Given the description of an element on the screen output the (x, y) to click on. 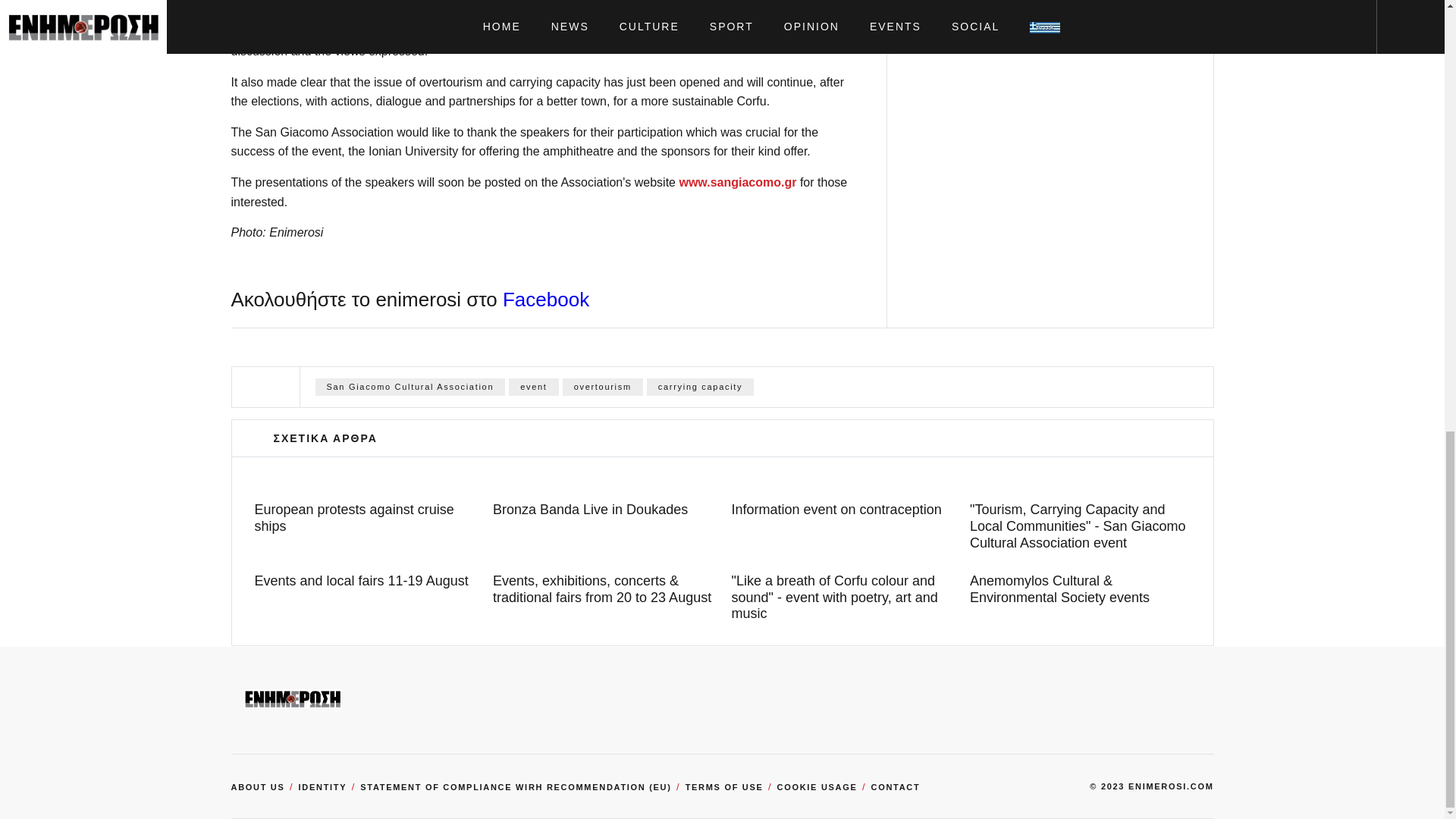
European protests against cruise ships (365, 518)
Facebook (545, 299)
Information event on contraception (841, 510)
event (532, 386)
www.sangiacomo.gr (737, 182)
overtourism (602, 386)
carrying capacity (700, 386)
San Giacomo Cultural Association (410, 386)
Bronza Banda Live in Doukades (603, 510)
